Given the description of an element on the screen output the (x, y) to click on. 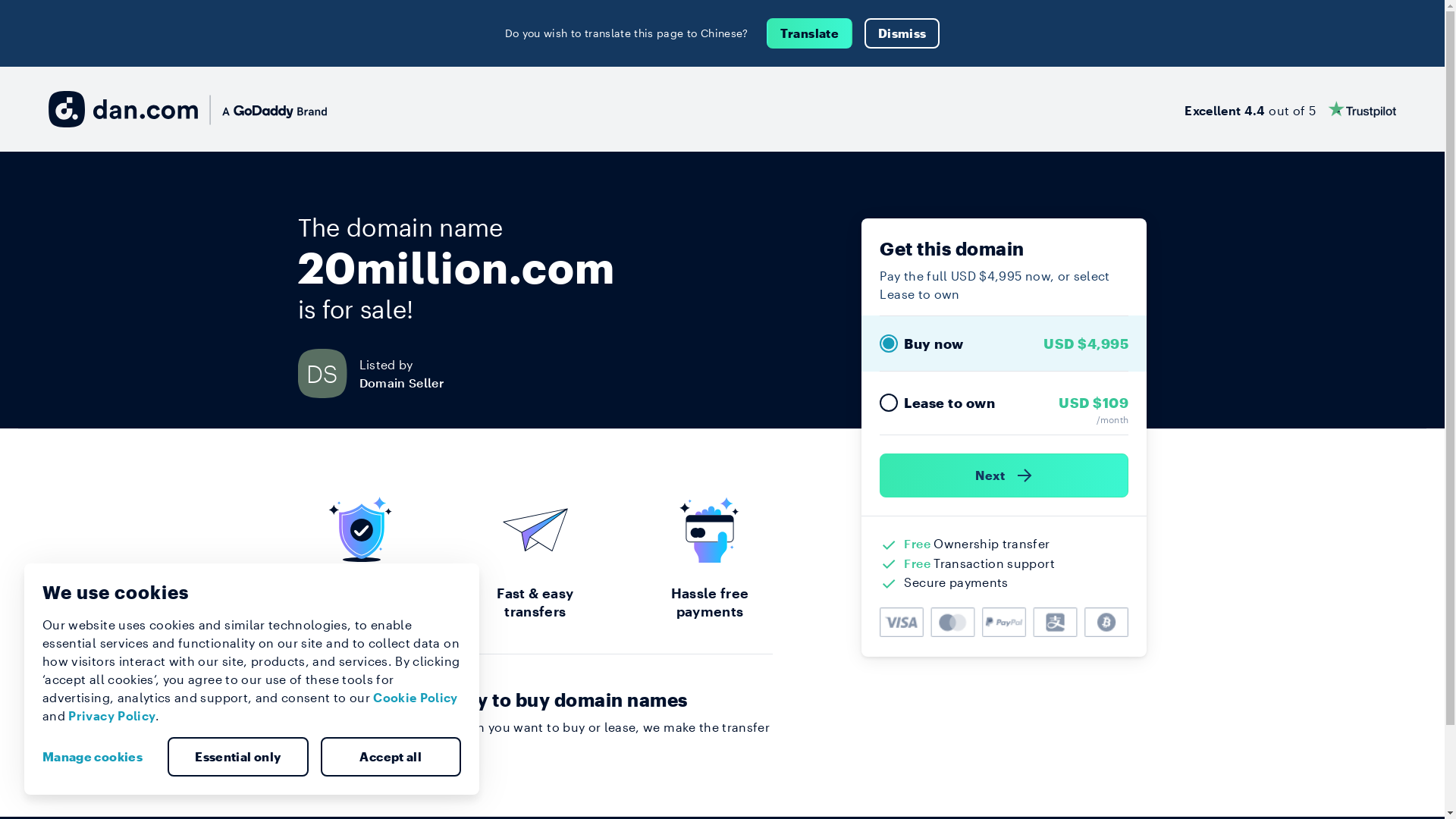
Accept all Element type: text (390, 756)
Manage cookies Element type: text (98, 756)
Dismiss Element type: text (901, 33)
Translate Element type: text (809, 33)
Cookie Policy Element type: text (415, 697)
Essential only Element type: text (237, 756)
Excellent 4.4 out of 5 Element type: text (1290, 109)
Privacy Policy Element type: text (111, 715)
Next
) Element type: text (1003, 475)
